Given the description of an element on the screen output the (x, y) to click on. 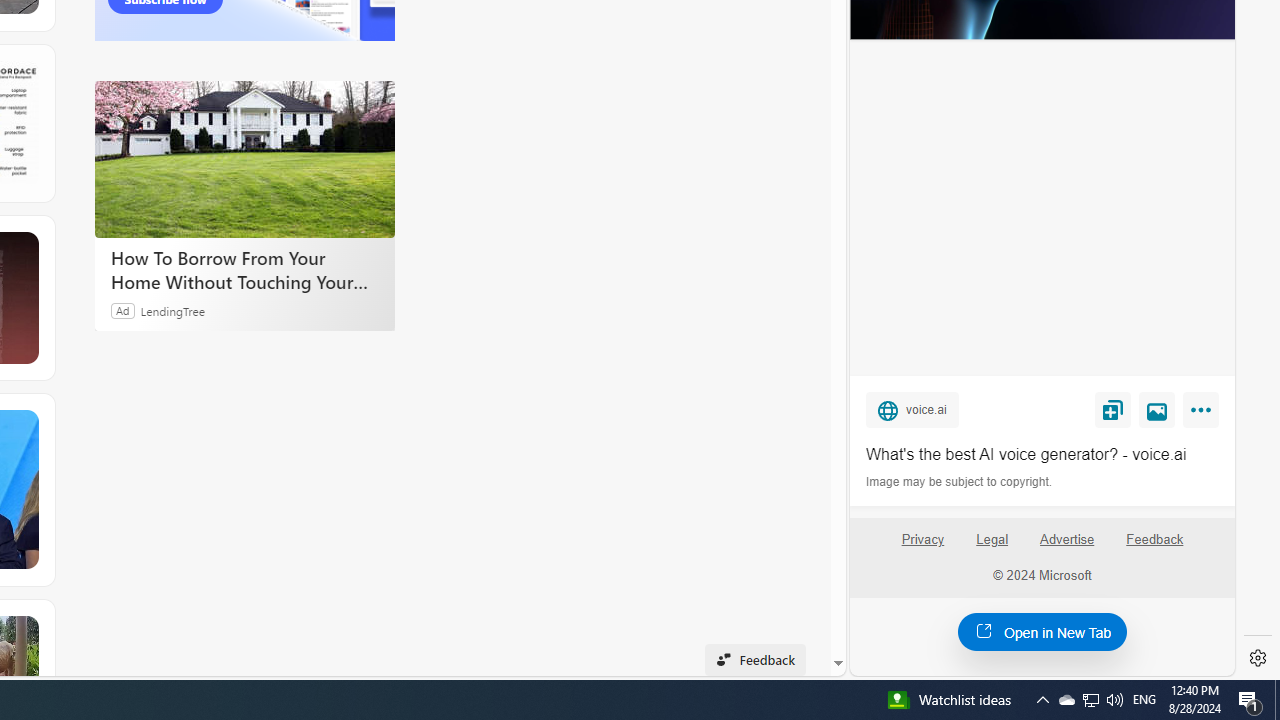
Ad (123, 309)
How To Borrow From Your Home Without Touching Your Mortgage (244, 269)
Legal (991, 539)
Privacy (922, 547)
Settings (1258, 658)
Advertise (1066, 539)
Advertise (1067, 547)
